Given the description of an element on the screen output the (x, y) to click on. 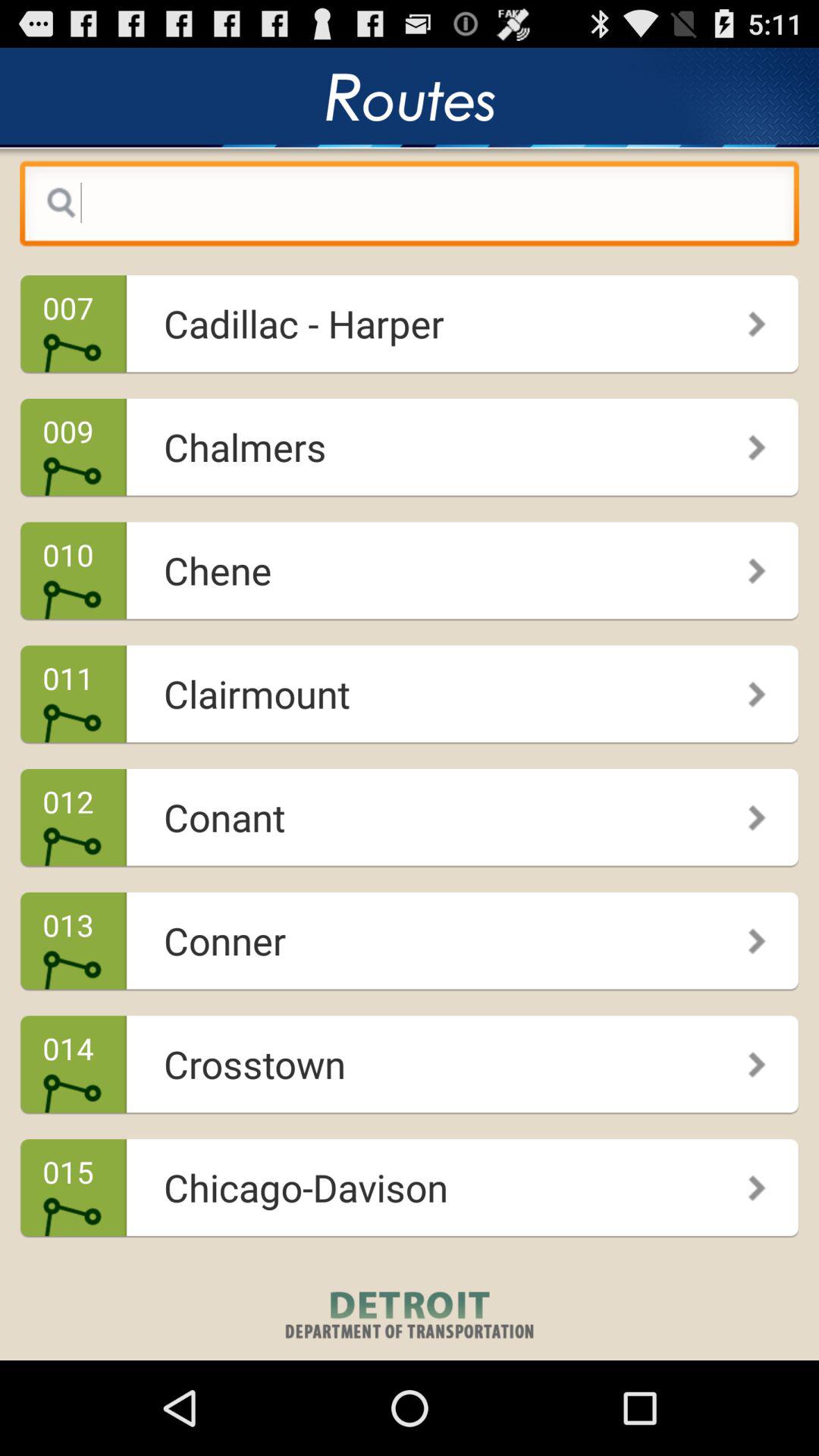
search field (409, 207)
